Given the description of an element on the screen output the (x, y) to click on. 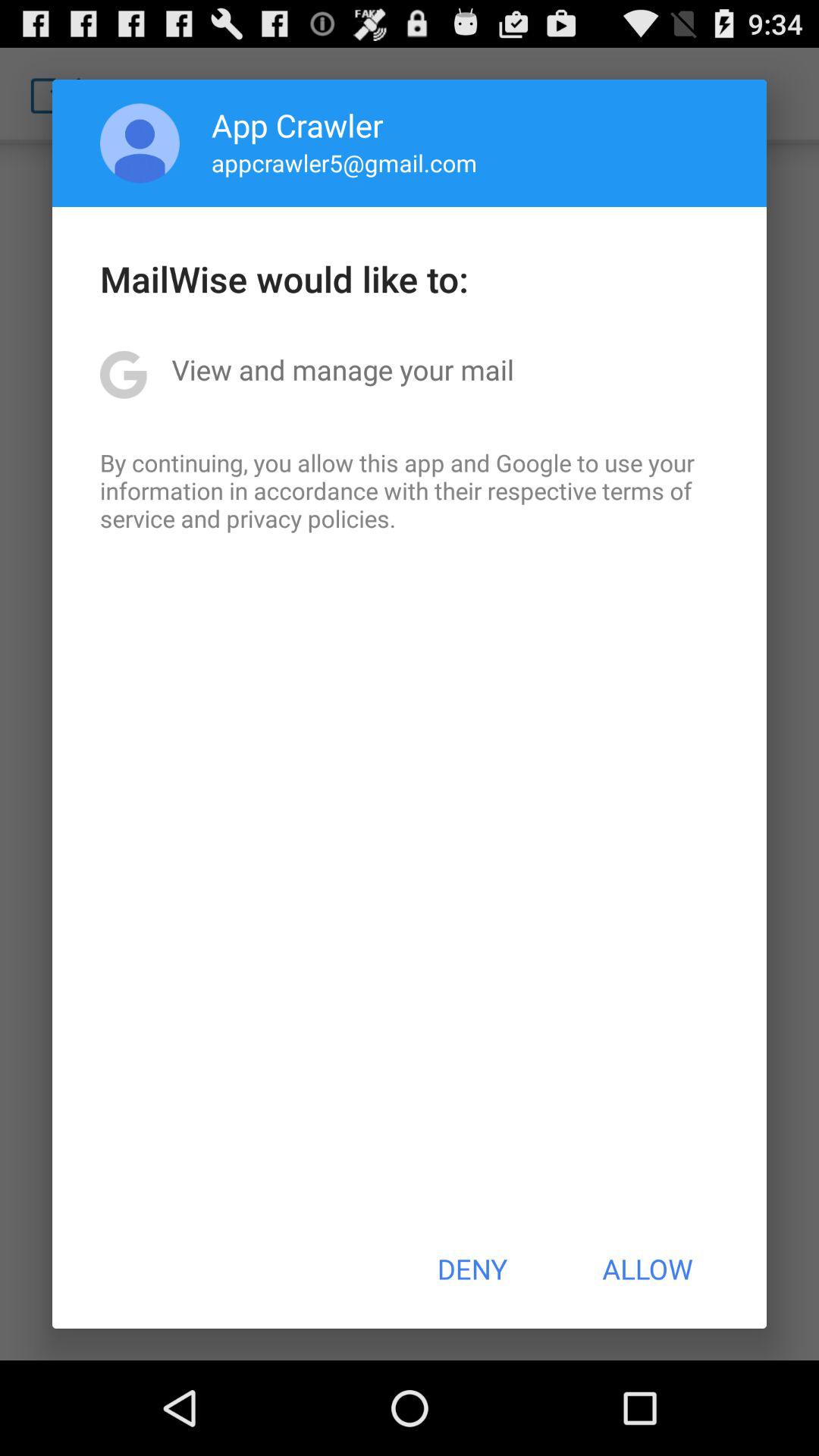
click icon above the mailwise would like item (139, 143)
